Given the description of an element on the screen output the (x, y) to click on. 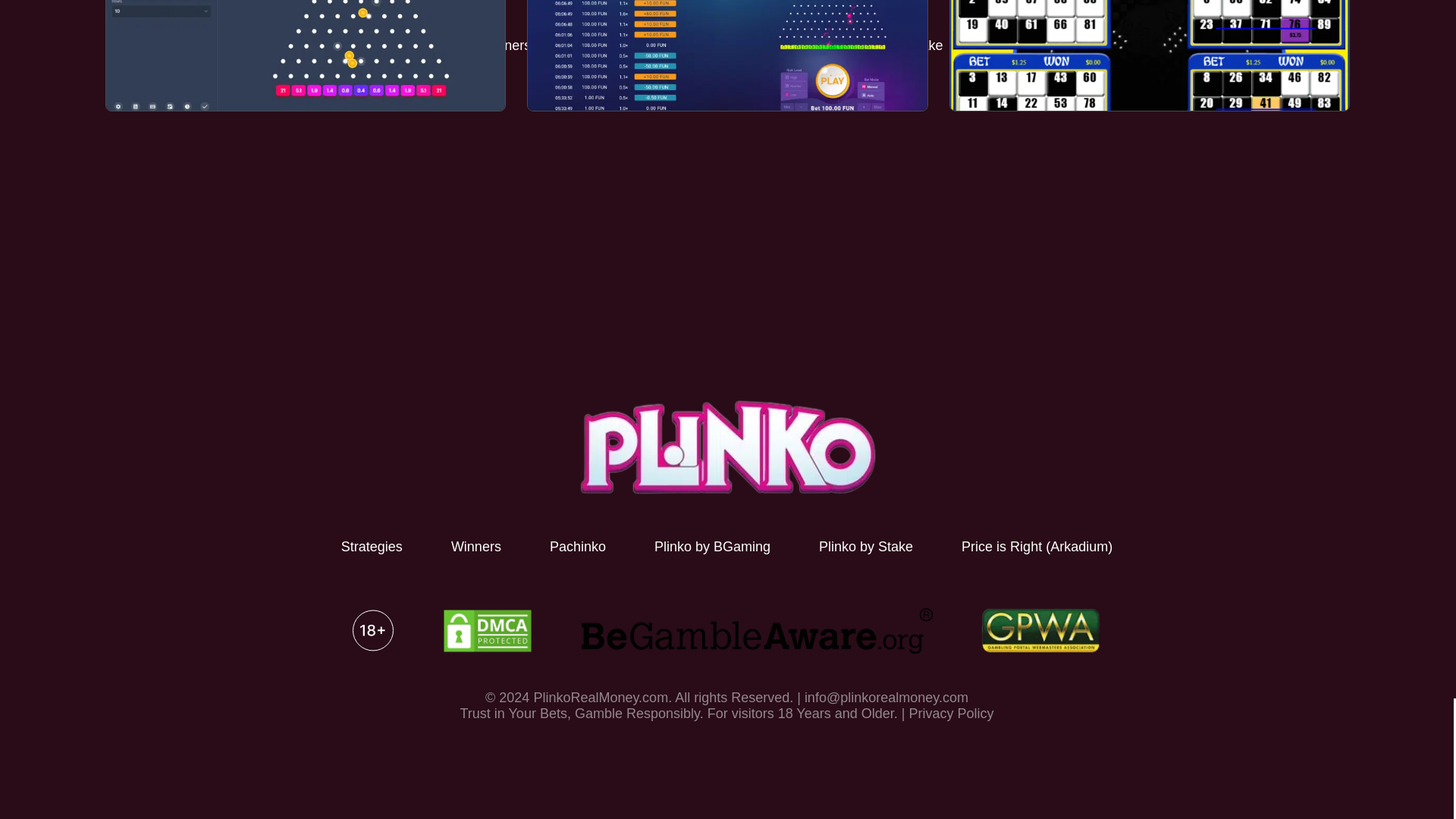
Winners (475, 546)
Pachinko (577, 546)
Plinko by Stake (865, 546)
Plinko (726, 447)
Plinko by BGaming (711, 546)
Strategies (371, 546)
